Given the description of an element on the screen output the (x, y) to click on. 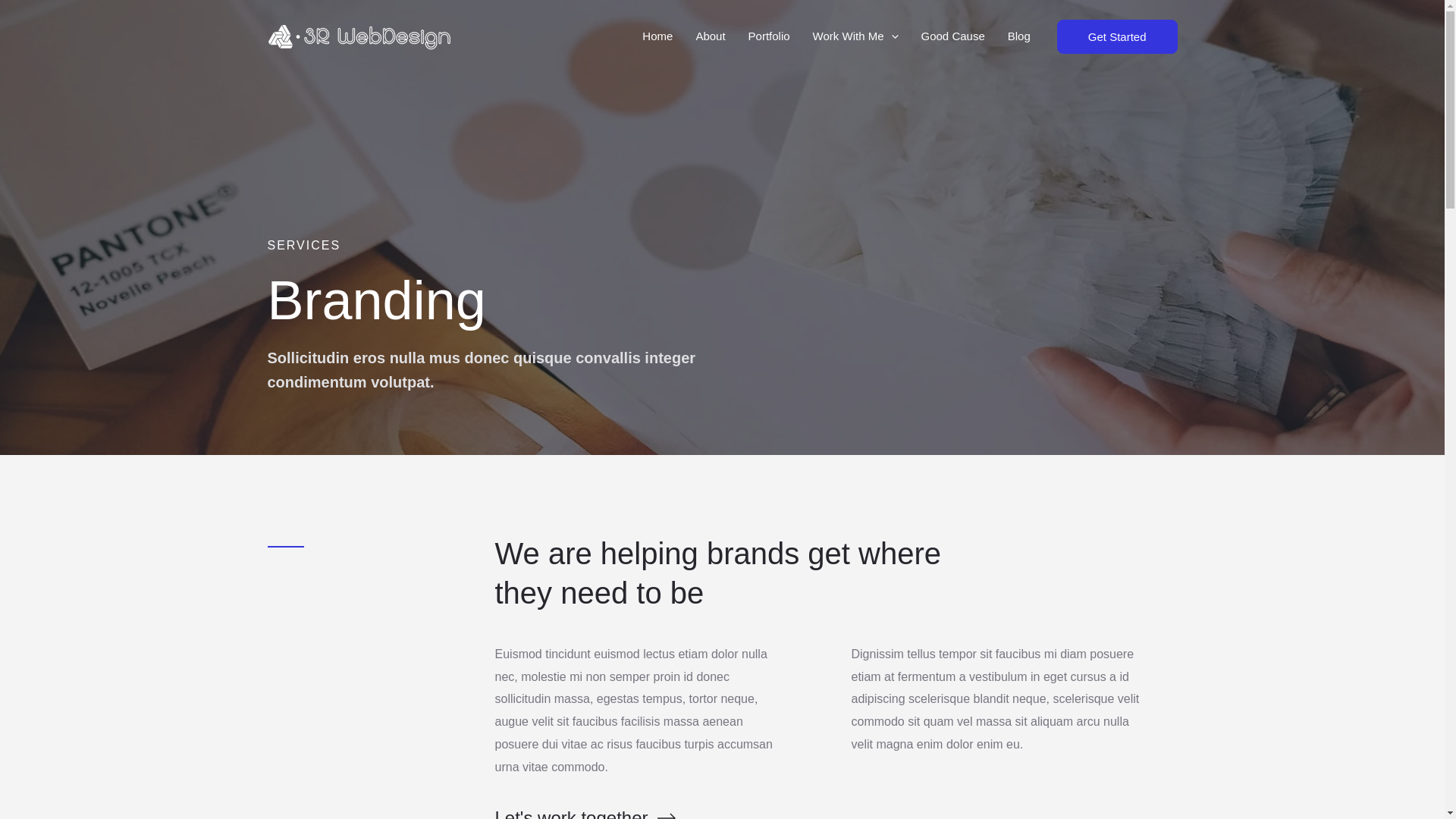
Home Element type: text (657, 36)
About Element type: text (710, 36)
Get Started Element type: text (1117, 36)
Blog Element type: text (1018, 36)
Portfolio Element type: text (769, 36)
Work With Me Element type: text (855, 36)
Good Cause Element type: text (953, 36)
